Given the description of an element on the screen output the (x, y) to click on. 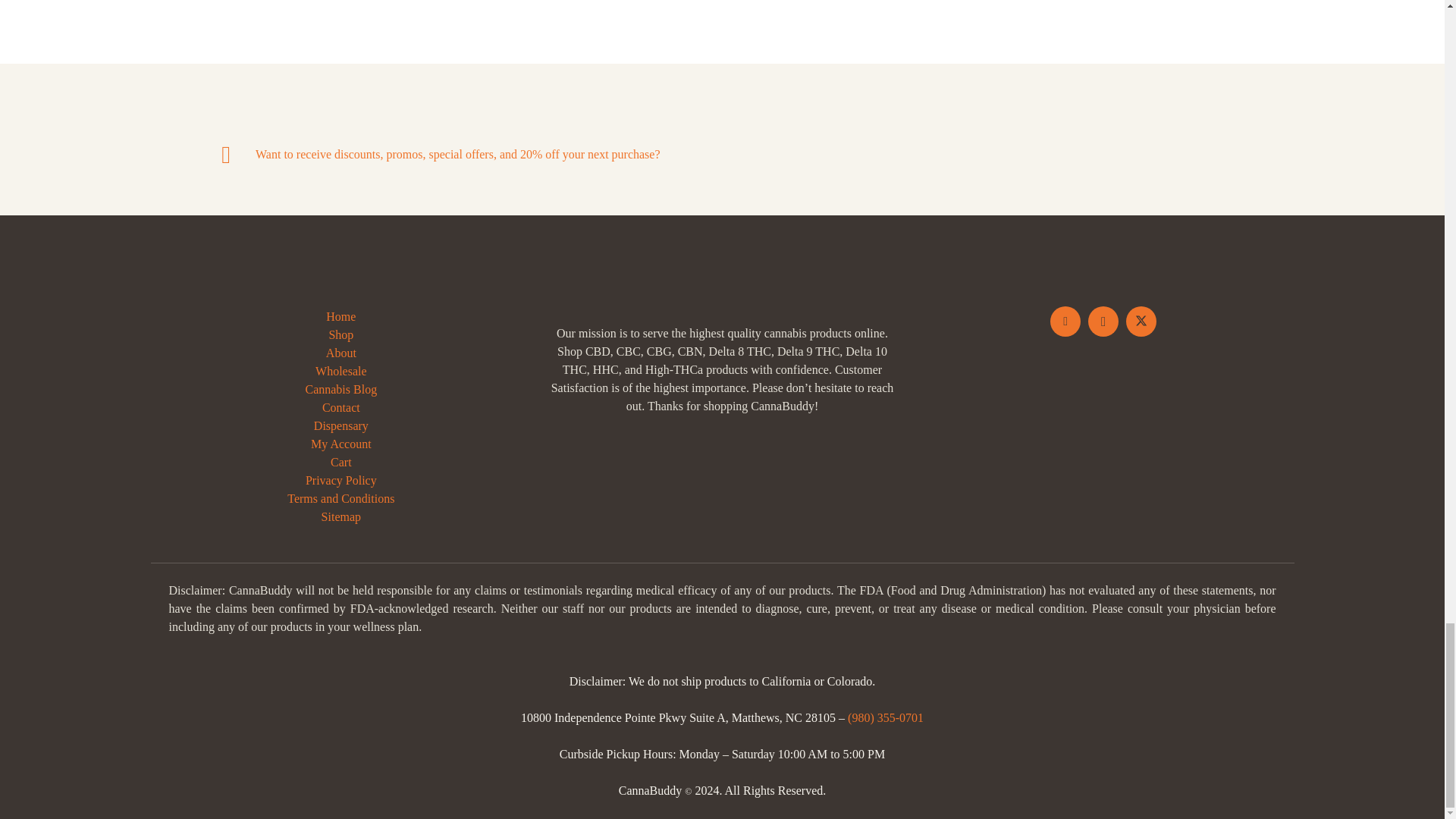
Instagram (1102, 321)
Facebook (1064, 321)
Twitter (1140, 321)
